Given the description of an element on the screen output the (x, y) to click on. 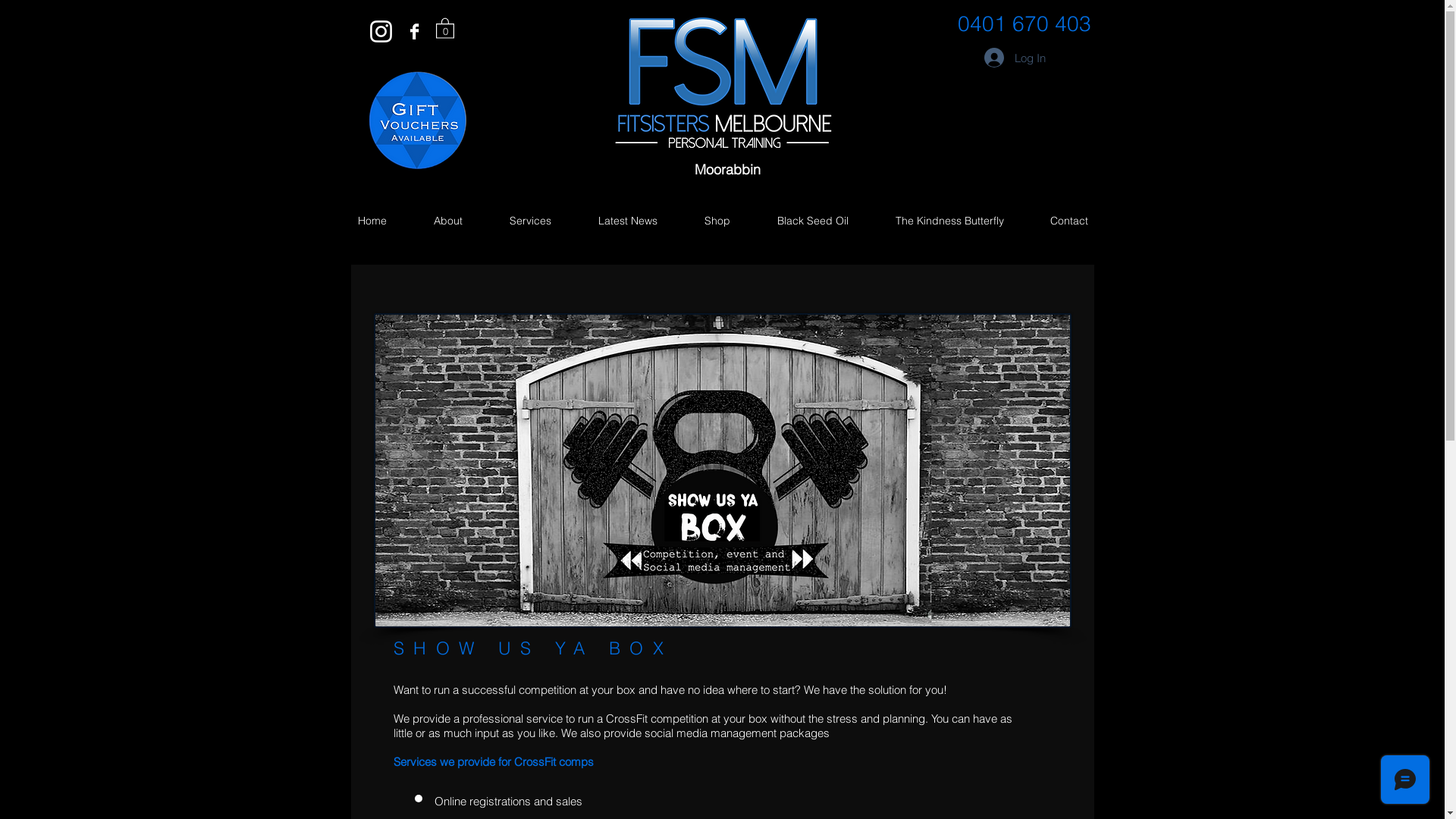
0 Element type: text (444, 27)
Contact Element type: text (1068, 220)
0401 670 403 Element type: text (1023, 23)
About Element type: text (447, 220)
Home Element type: text (371, 220)
Log In Element type: text (1014, 57)
Latest News Element type: text (627, 220)
The Kindness Butterfly Element type: text (949, 220)
Shop Element type: text (716, 220)
Black Seed Oil Element type: text (812, 220)
